Given the description of an element on the screen output the (x, y) to click on. 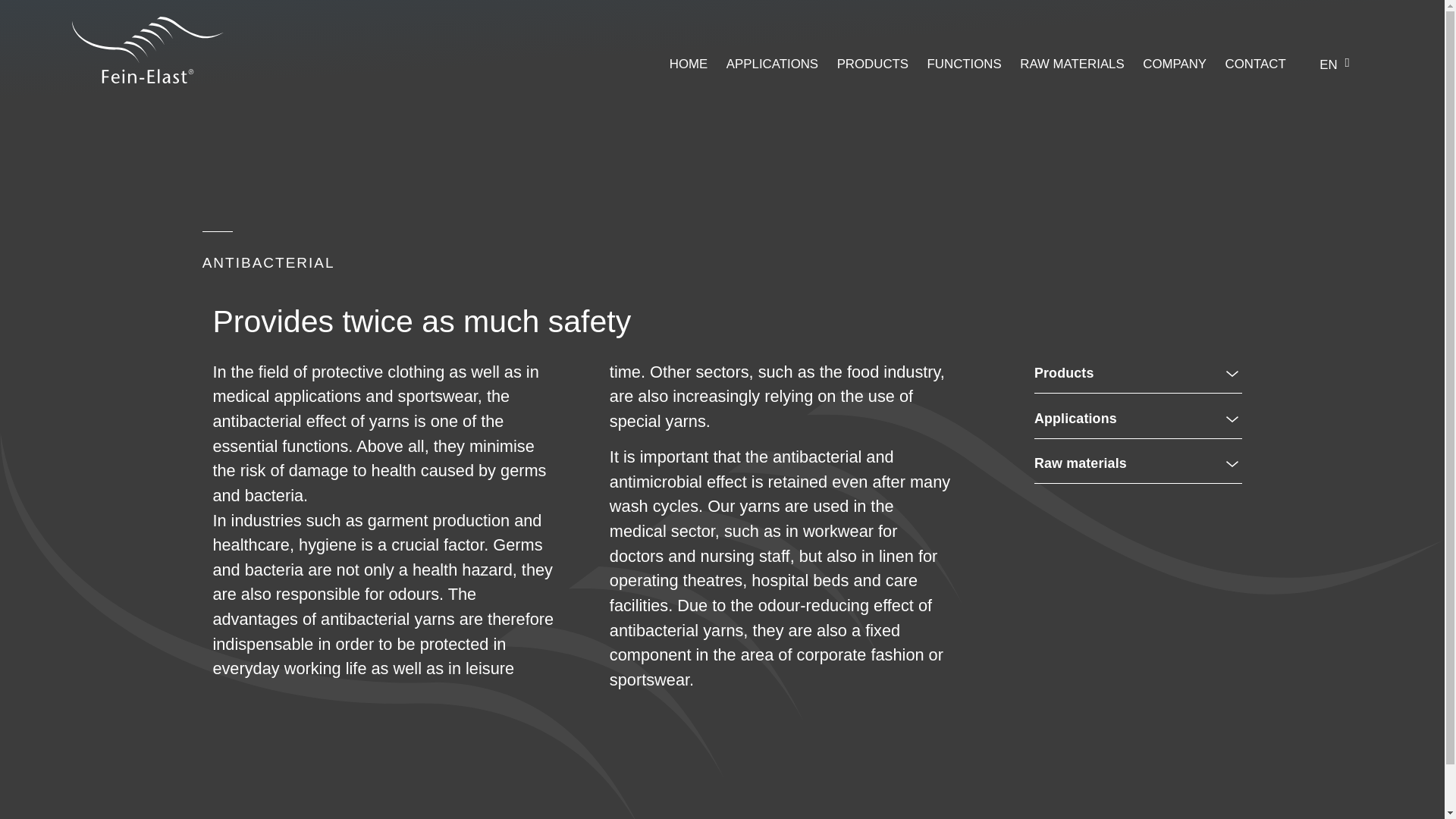
EN (1330, 64)
HOME (688, 63)
CONTACT (1255, 63)
PRODUCTS (872, 63)
FUNCTIONS (964, 63)
Applications (1074, 418)
RAW MATERIALS (1072, 63)
Products (1063, 373)
APPLICATIONS (772, 63)
COMPANY (1174, 63)
